Given the description of an element on the screen output the (x, y) to click on. 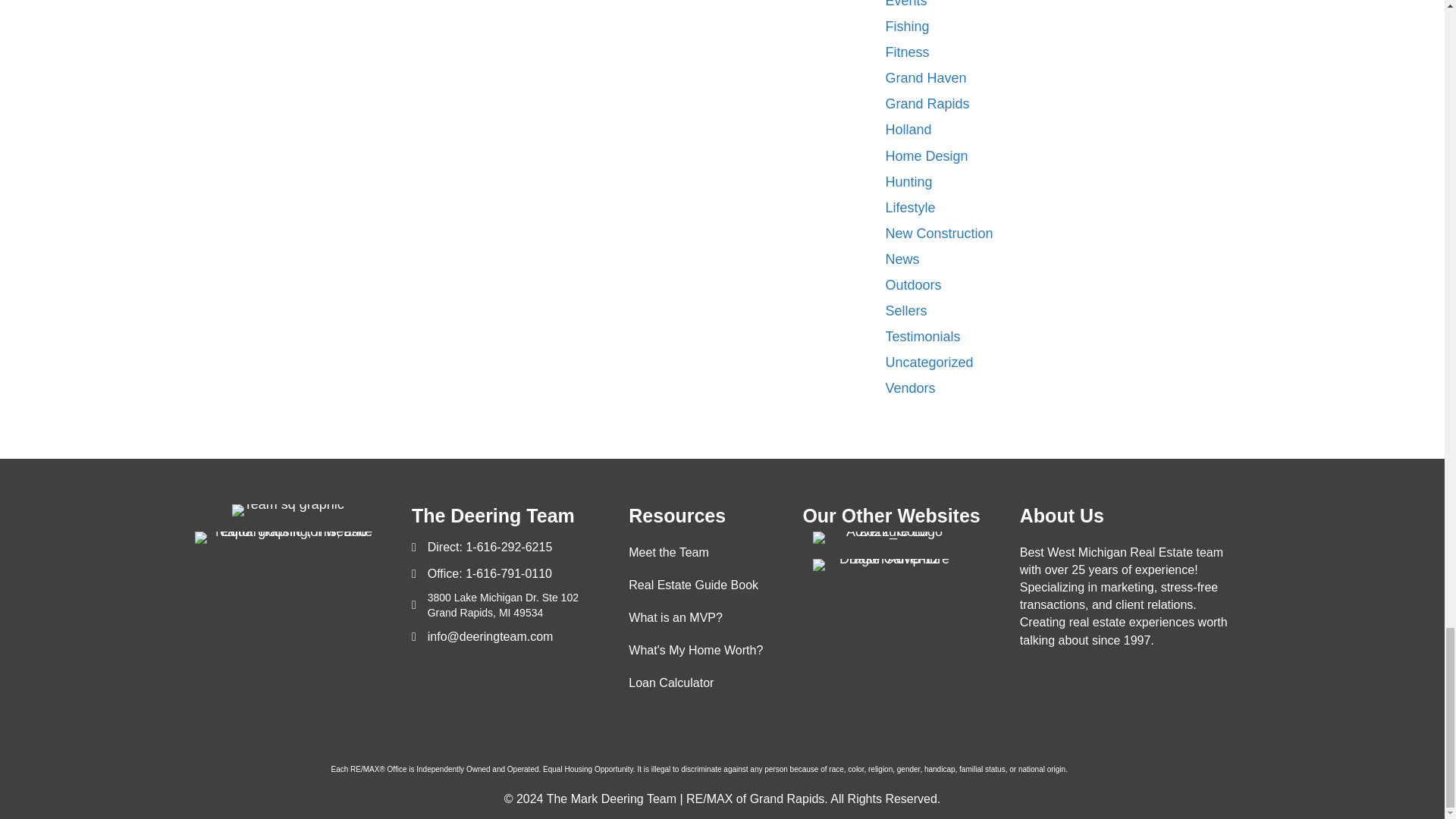
Team sq graphic (287, 510)
Dragon Adventure Base Camp-12 (887, 564)
Equal housing, mls, and realtor graphic for website (286, 537)
